Given the description of an element on the screen output the (x, y) to click on. 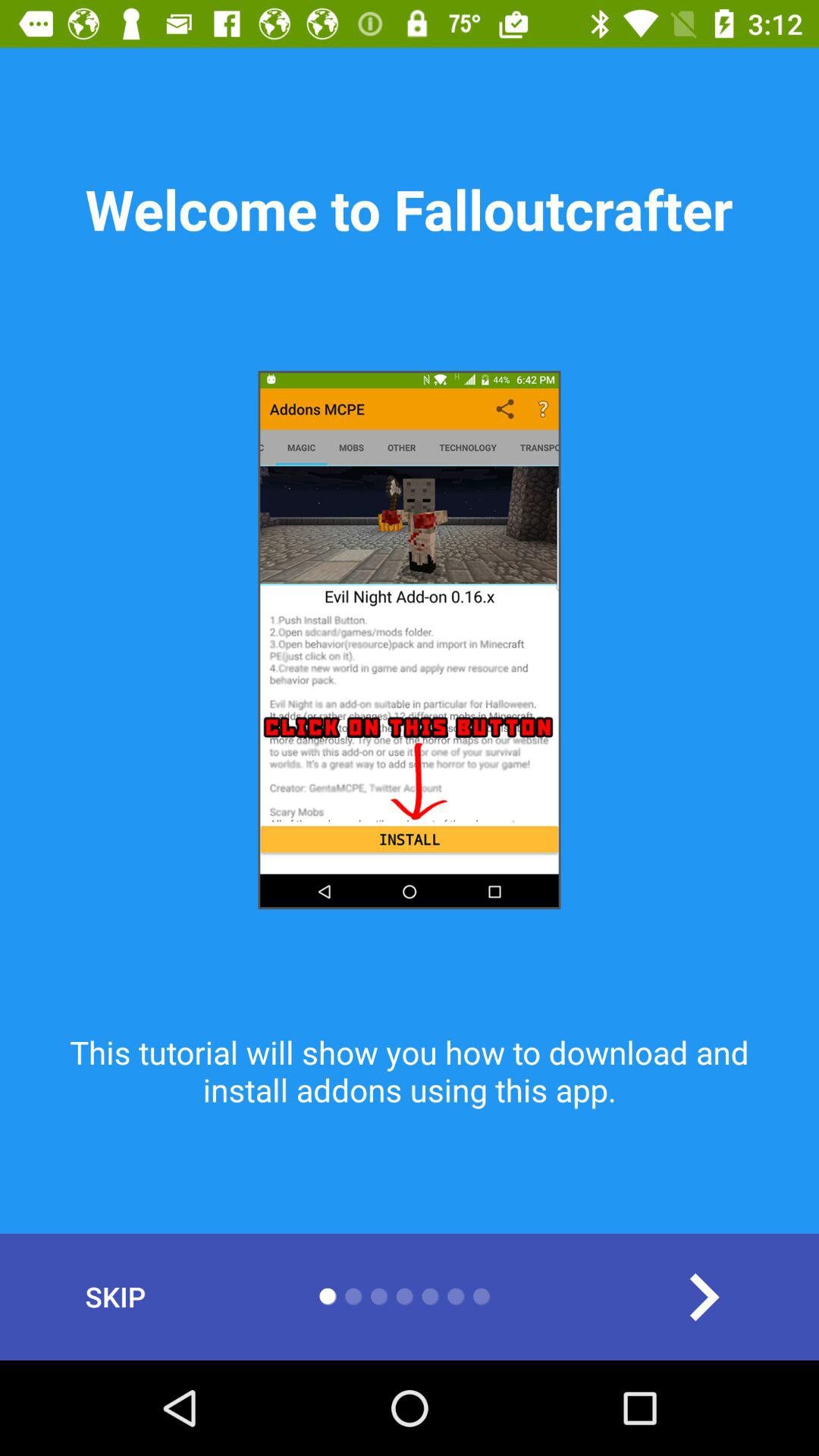
tap skip at the bottom left corner (114, 1296)
